Given the description of an element on the screen output the (x, y) to click on. 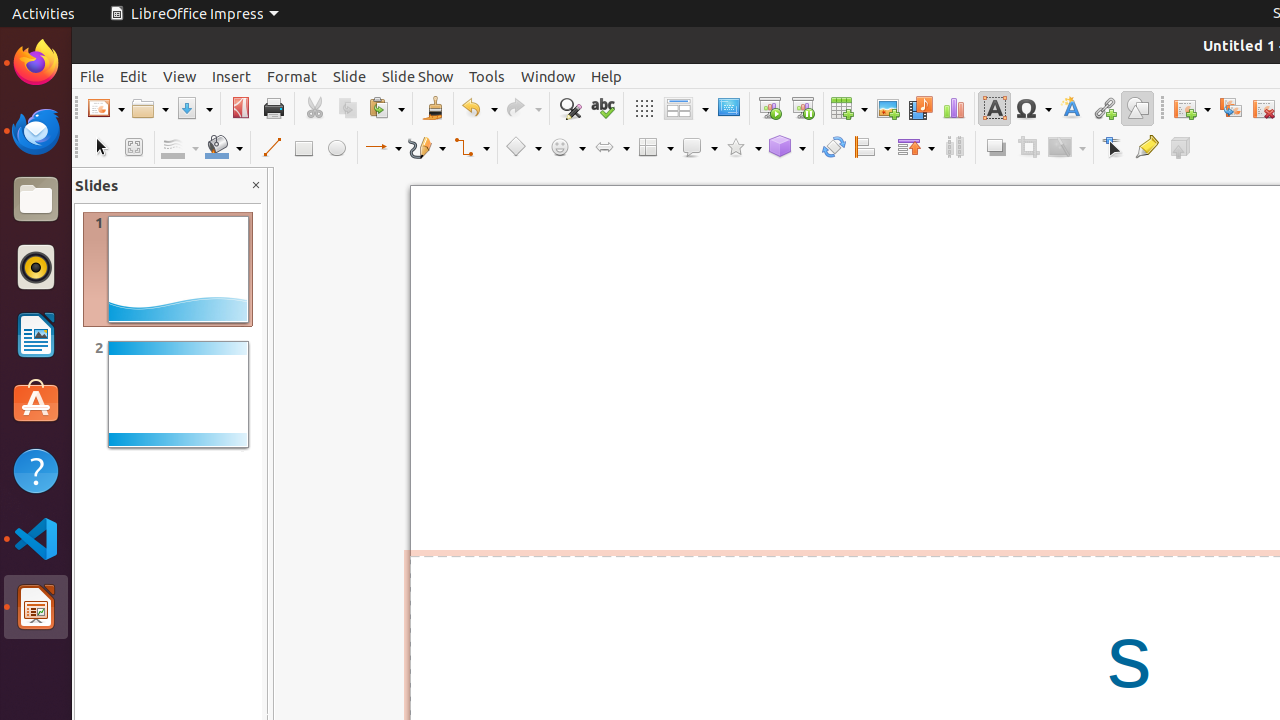
Star Shapes Element type: push-button (743, 147)
Callout Shapes Element type: push-button (699, 147)
Delete Slide Element type: push-button (1263, 108)
Media Element type: push-button (920, 108)
Duplicate Slide Element type: push-button (1230, 108)
